Given the description of an element on the screen output the (x, y) to click on. 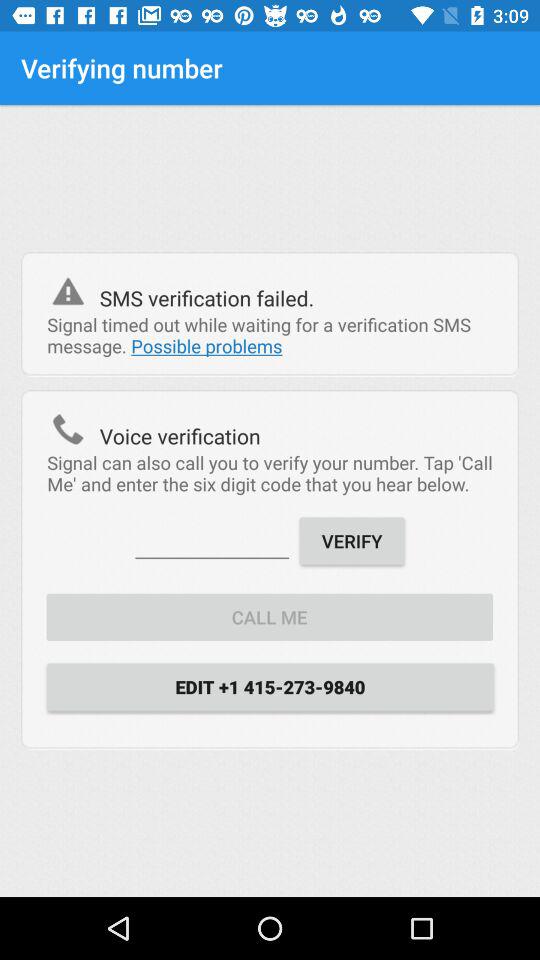
enter confirmation number (212, 539)
